Given the description of an element on the screen output the (x, y) to click on. 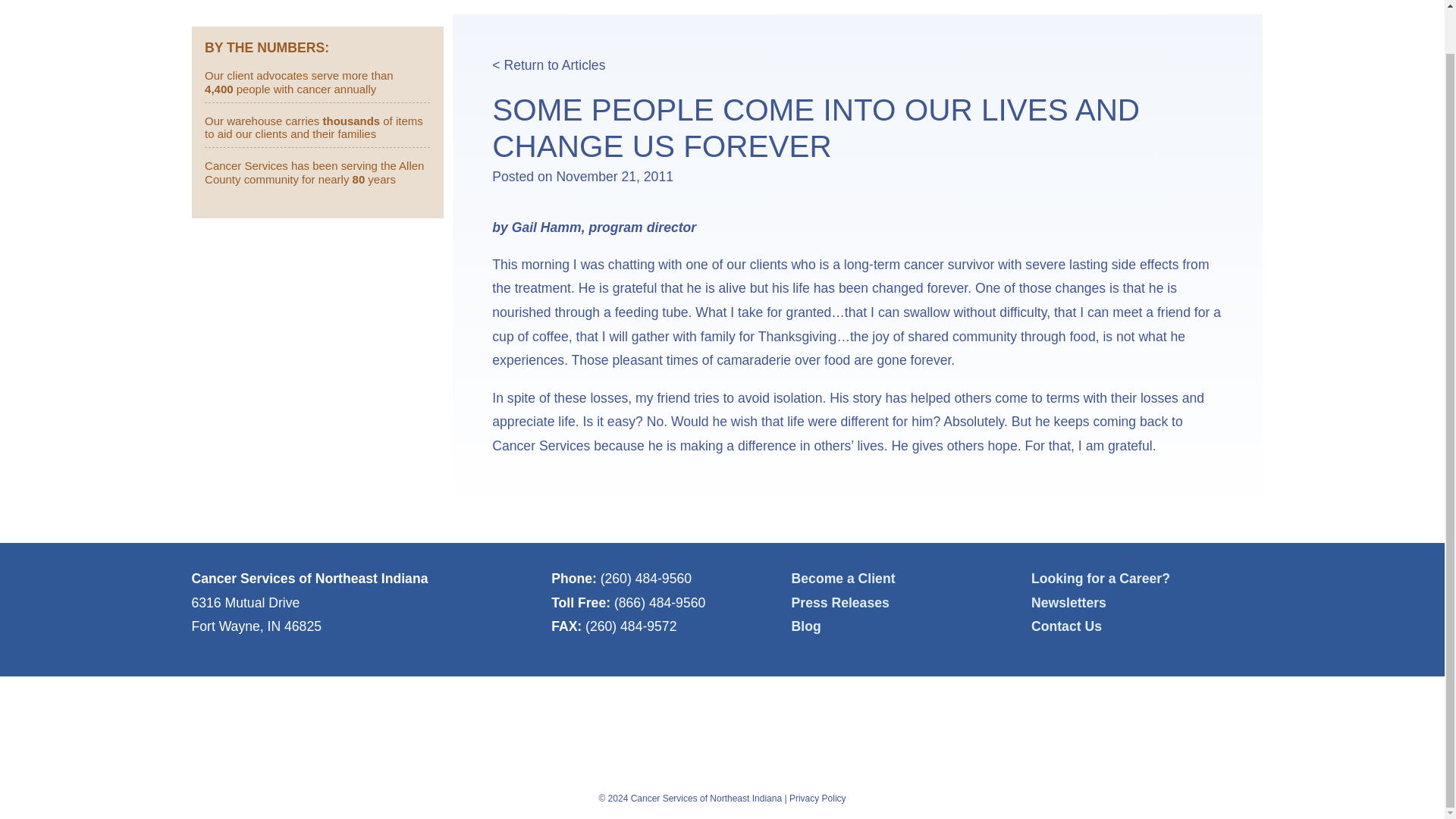
Privacy Policy (817, 798)
Become a Client (843, 578)
Looking for a Career? (1100, 578)
Press Releases (840, 602)
Newsletters (1068, 602)
Contact Us (1066, 626)
Blog (806, 626)
